Given the description of an element on the screen output the (x, y) to click on. 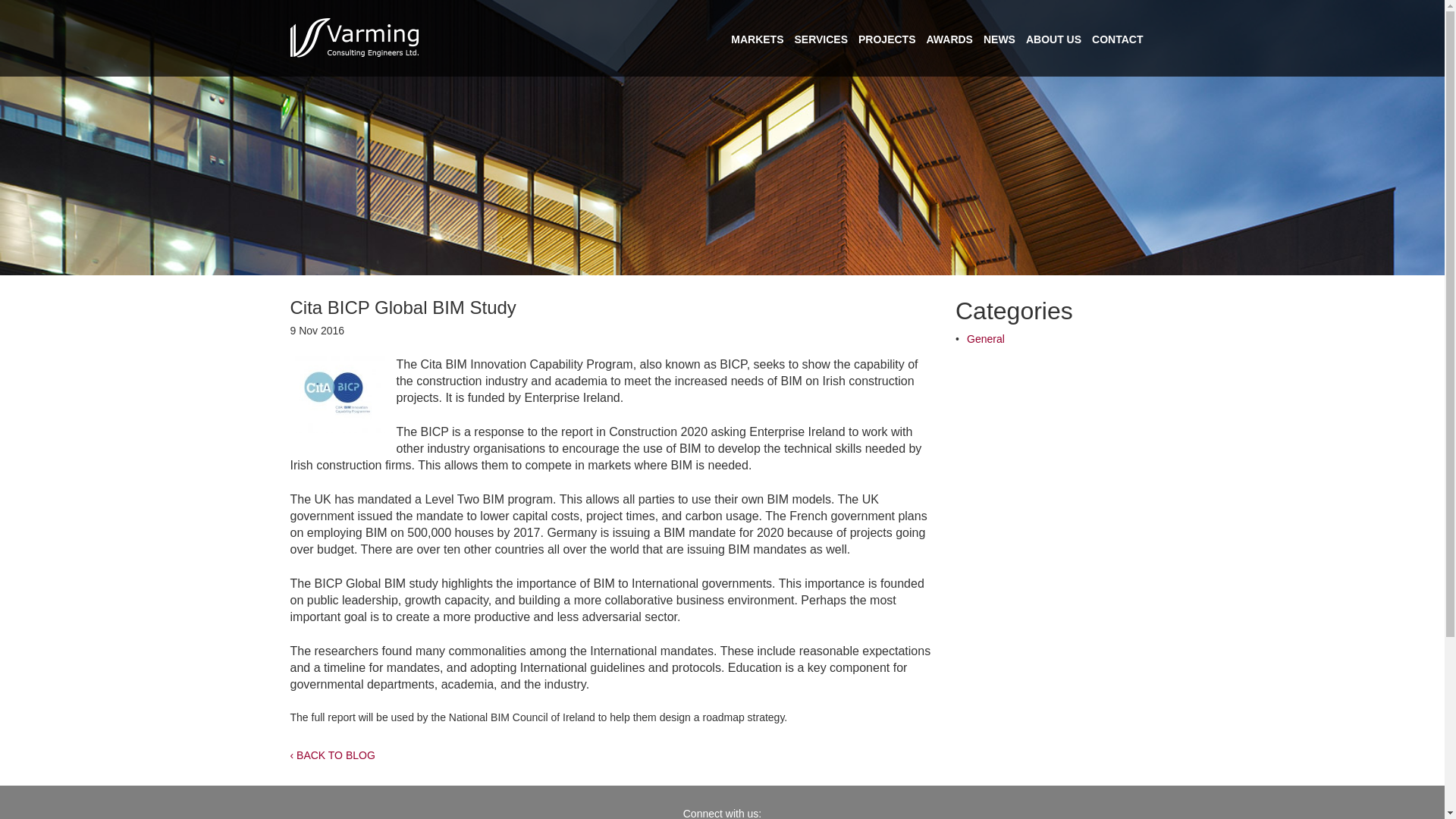
ABOUT US (1053, 39)
PROJECTS (887, 39)
NEWS (999, 39)
AWARDS (949, 39)
MARKETS (756, 39)
General (985, 338)
Varming Consulting Engineers (354, 38)
SERVICES (820, 39)
CONTACT (1117, 39)
